Given the description of an element on the screen output the (x, y) to click on. 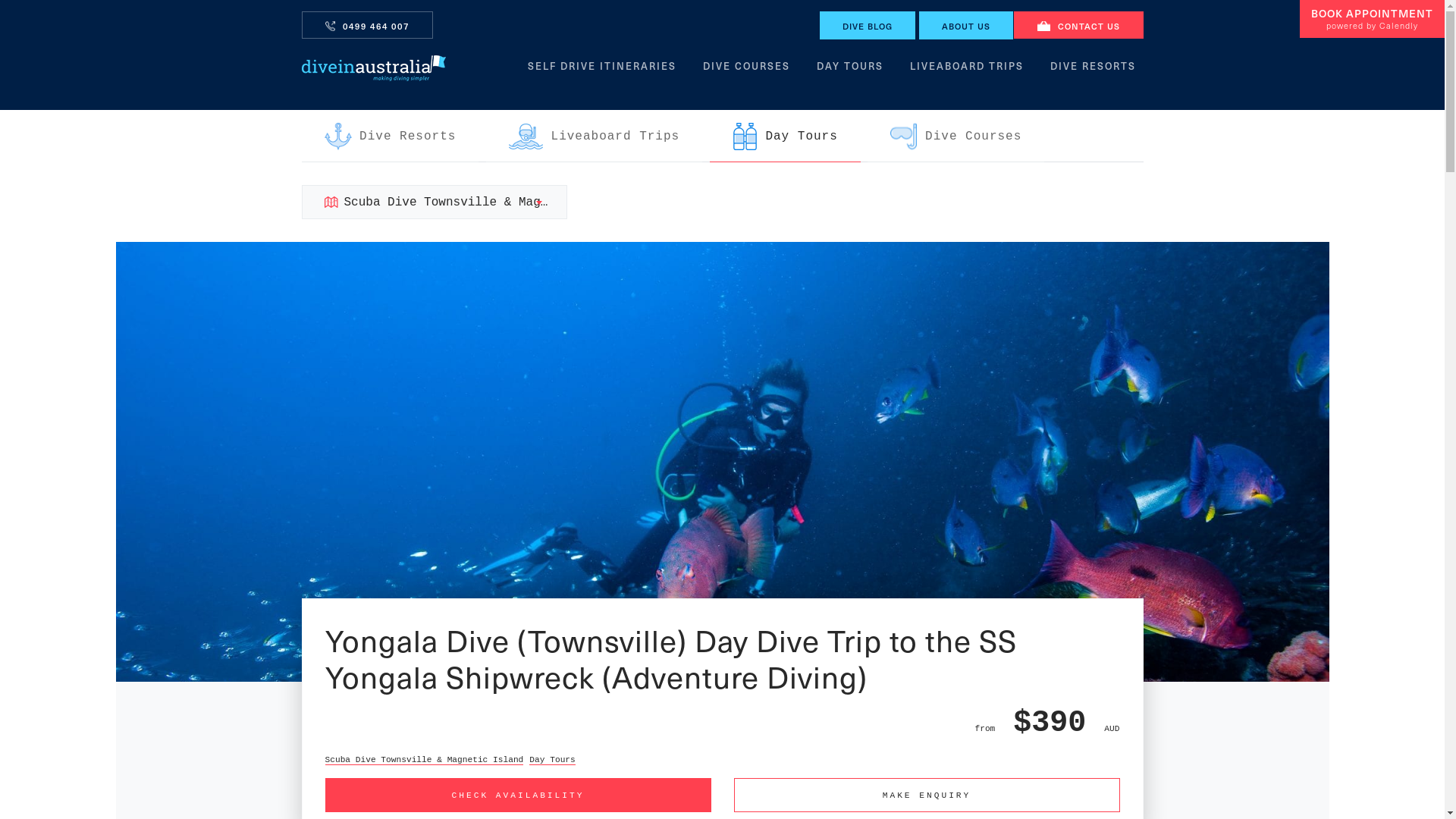
Scuba Dive Townsville & Magnetic Island Element type: text (423, 760)
Dive Courses Element type: text (955, 135)
Day Tours Element type: text (551, 760)
LIVEABOARD TRIPS Element type: text (966, 69)
DIVE RESORTS Element type: text (1091, 69)
DAY TOURS Element type: text (849, 69)
MAKE ENQUIRY Element type: text (927, 795)
0499 464 007 Element type: text (367, 24)
Day Tours Element type: text (784, 135)
DIVE COURSES Element type: text (745, 69)
CONTACT US Element type: text (1077, 24)
SELF DRIVE ITINERARIES Element type: text (602, 69)
DIVE BLOG Element type: text (866, 25)
CHECK AVAILABILITY Element type: text (517, 795)
Dive Resorts Element type: text (390, 135)
ABOUT US Element type: text (966, 25)
Liveaboard Trips Element type: text (594, 135)
